Given the description of an element on the screen output the (x, y) to click on. 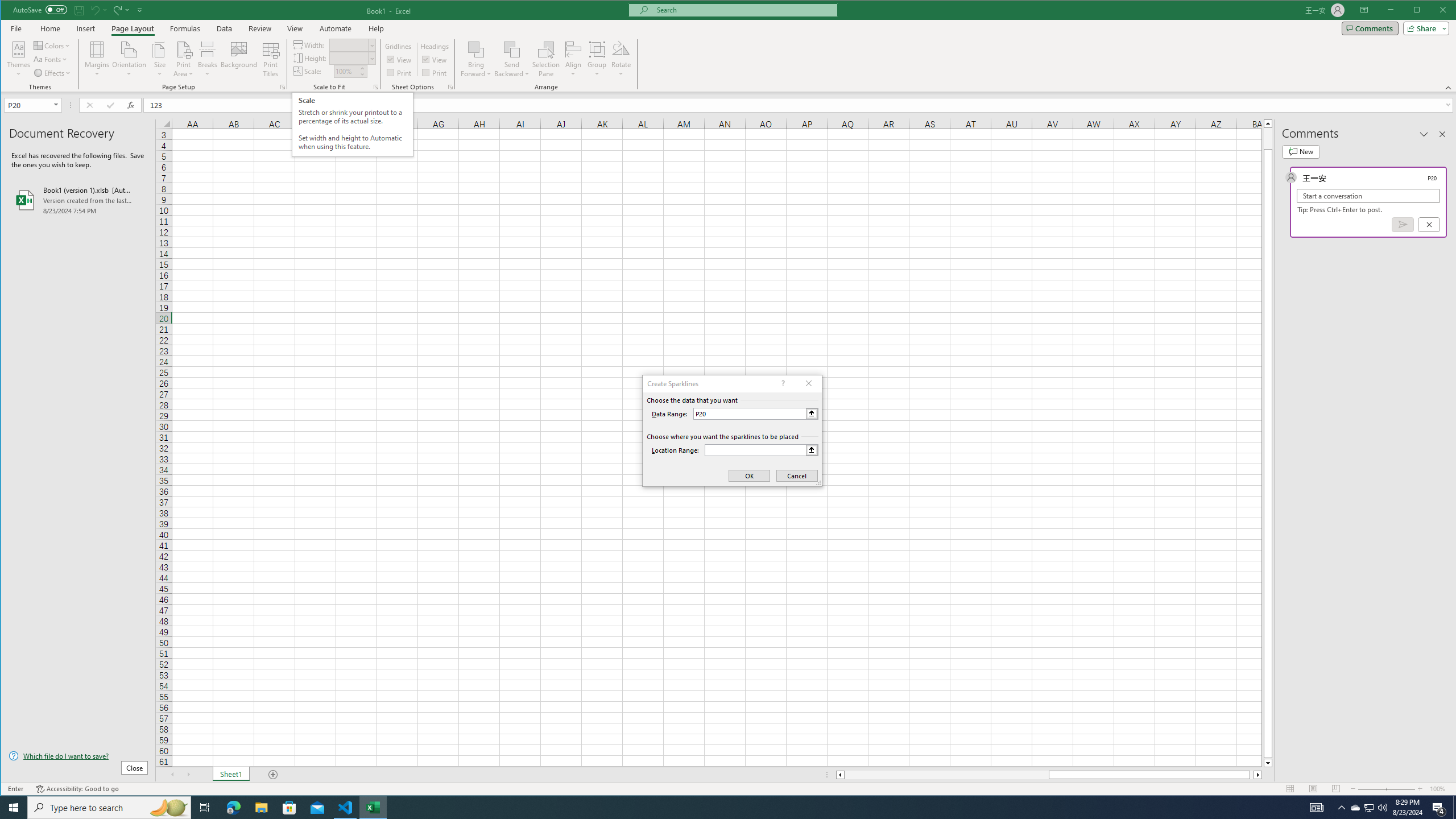
Height (349, 58)
Post comment (Ctrl + Enter) (1402, 224)
Print Area (183, 59)
Width (349, 45)
Align (573, 59)
Insert (85, 28)
Cancel (1428, 224)
Start a conversation (1368, 195)
Effects (53, 72)
Less (361, 73)
Background... (239, 59)
Orientation (129, 59)
